Given the description of an element on the screen output the (x, y) to click on. 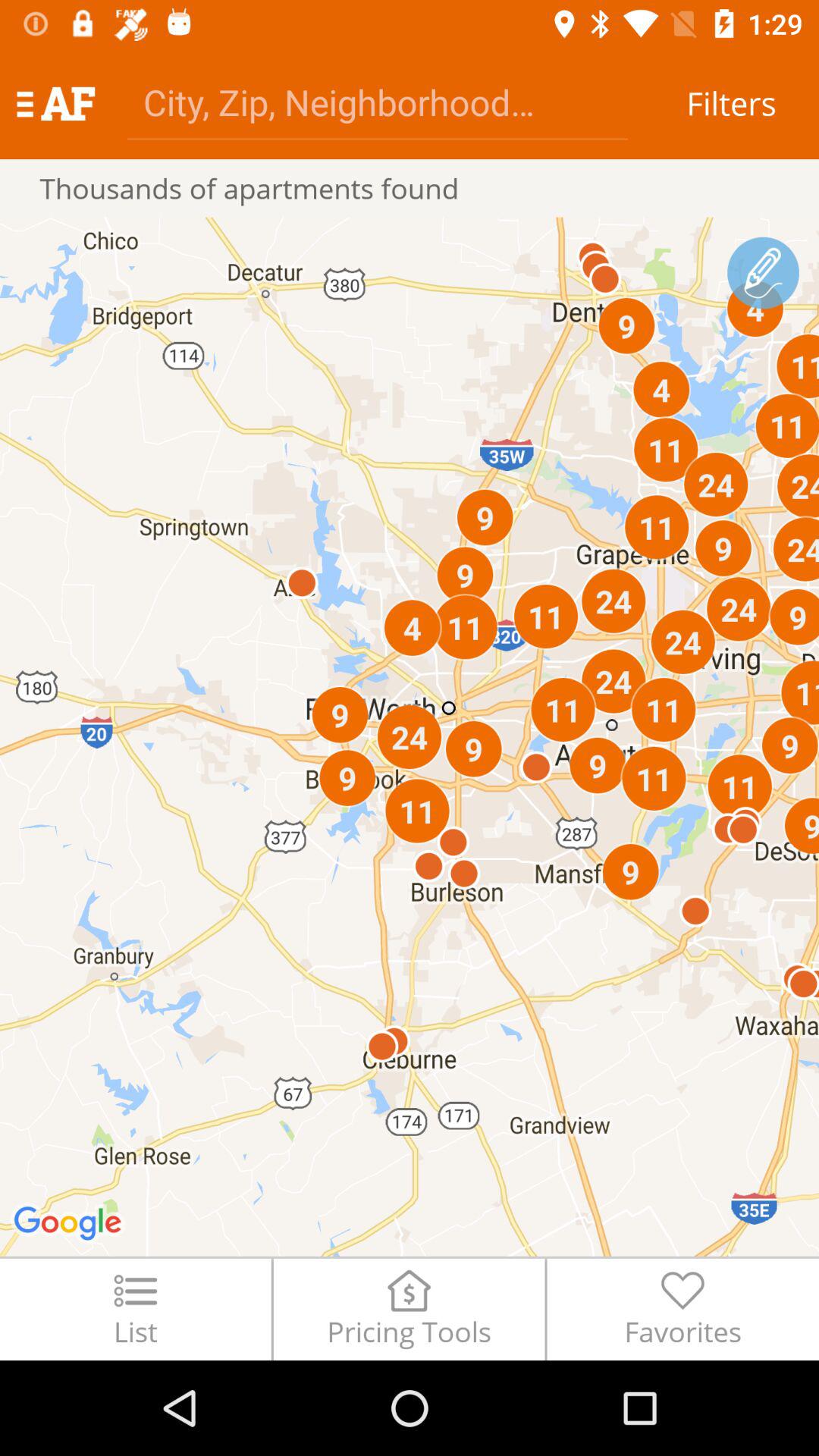
type in city/zip/neighborhood information (377, 102)
